Given the description of an element on the screen output the (x, y) to click on. 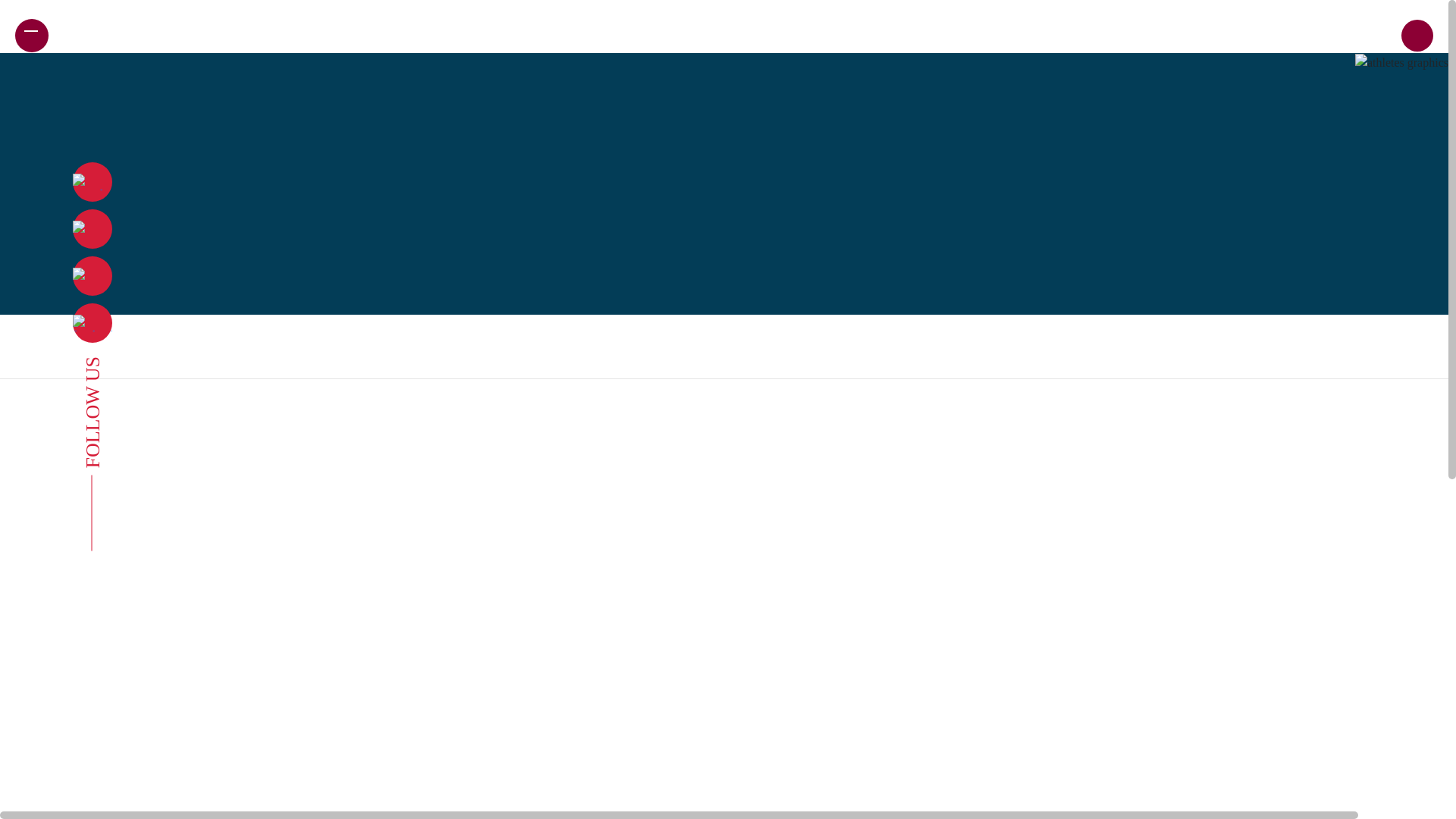
Search (1327, 50)
HOME (70, 34)
SIGN IN (1370, 35)
Search (1327, 50)
